Given the description of an element on the screen output the (x, y) to click on. 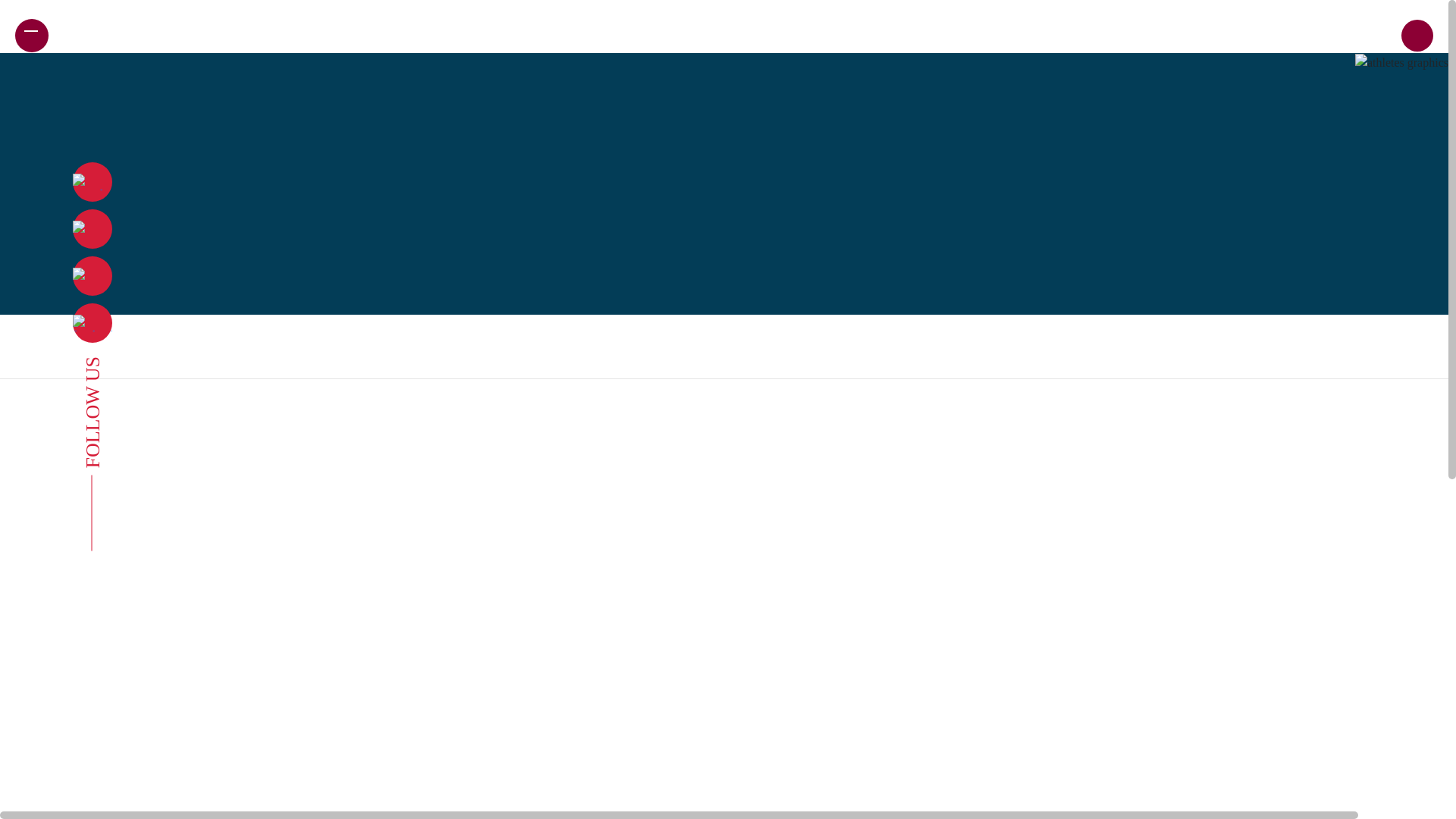
Search (1327, 50)
HOME (70, 34)
SIGN IN (1370, 35)
Search (1327, 50)
